Given the description of an element on the screen output the (x, y) to click on. 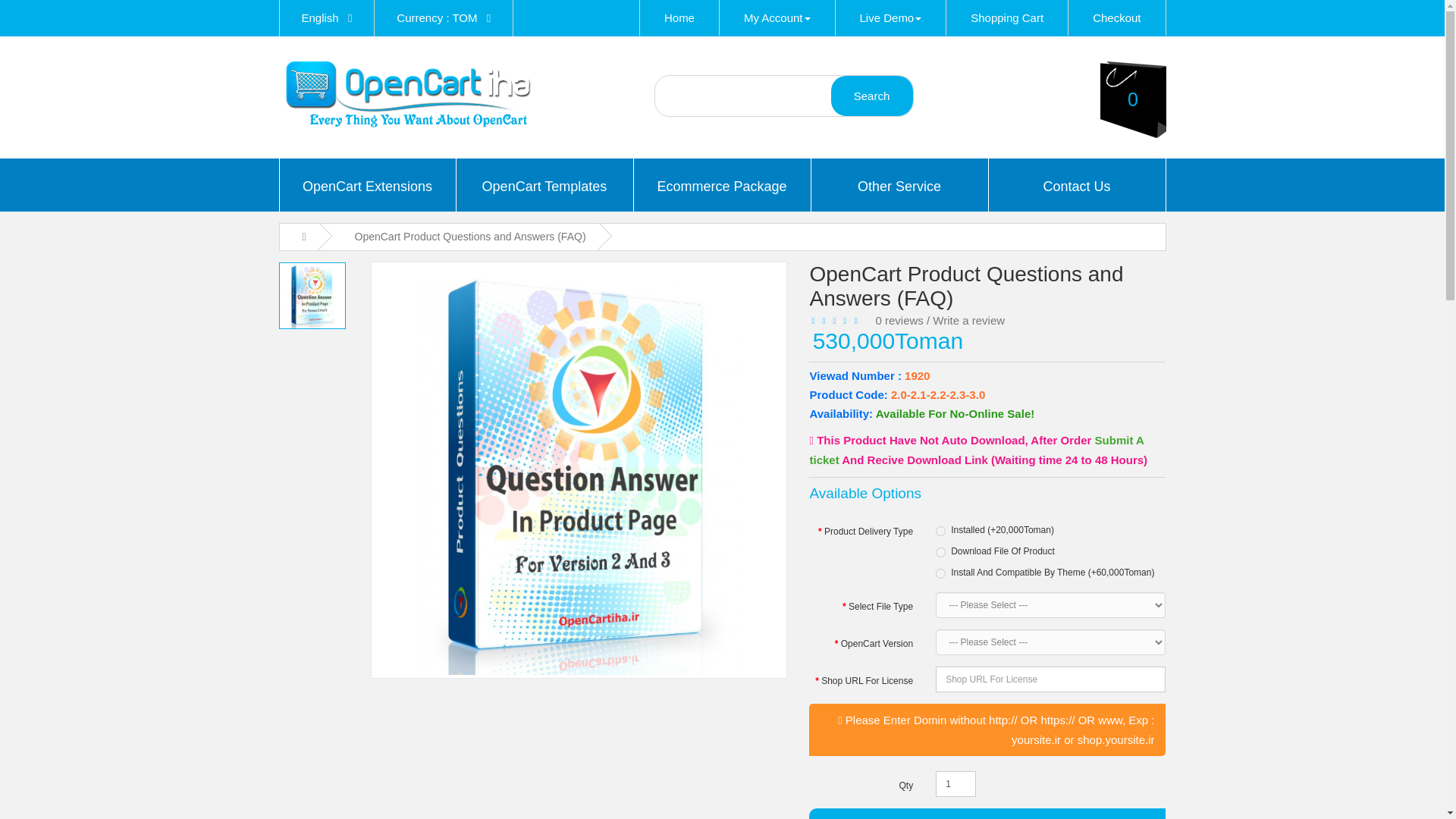
1 (955, 783)
2755 (940, 573)
Home (679, 18)
My Account (776, 18)
My Account (776, 18)
Search (871, 96)
2753 (940, 552)
Live Demo (890, 18)
Checkout (1116, 18)
